Given the description of an element on the screen output the (x, y) to click on. 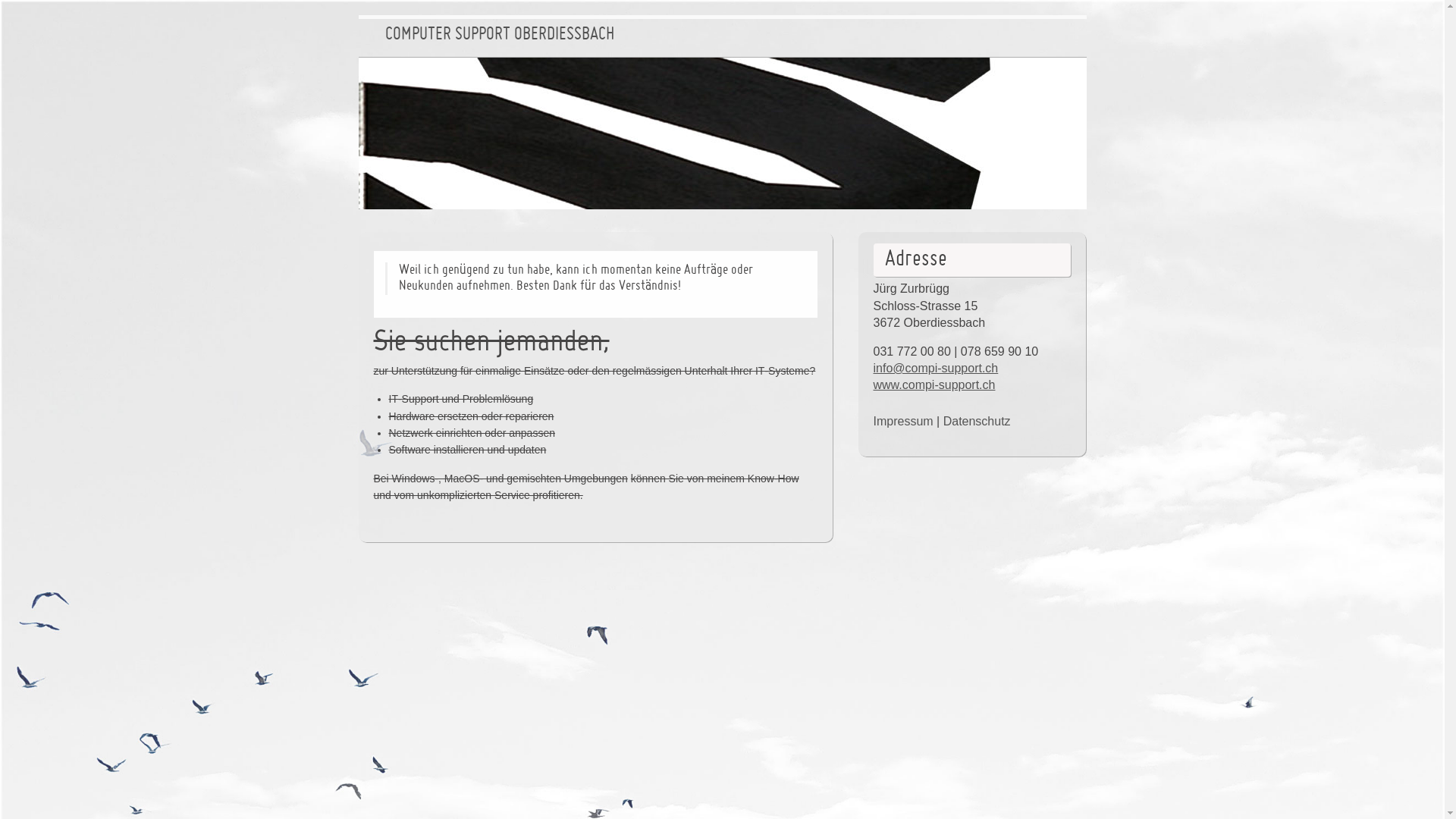
Impressum Element type: text (903, 420)
COMPUTER SUPPORT OBERDIESSBACH Element type: text (499, 35)
info@compi-support.ch Element type: text (935, 367)
Bild_Schad Element type: hover (721, 133)
Datenschutz Element type: text (976, 420)
www.compi-support.ch Element type: text (934, 384)
